Given the description of an element on the screen output the (x, y) to click on. 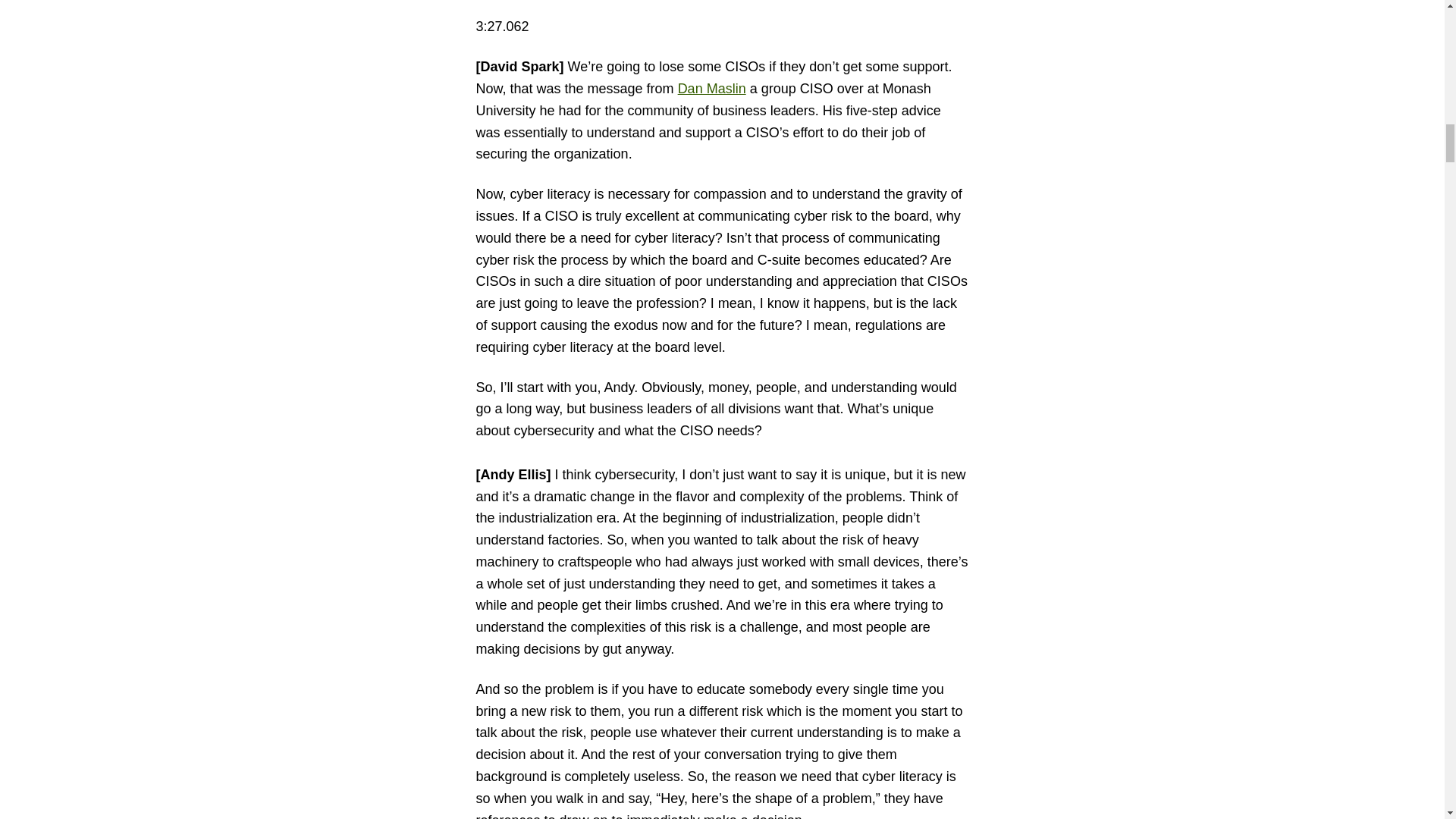
Dan Maslin (711, 88)
